Given the description of an element on the screen output the (x, y) to click on. 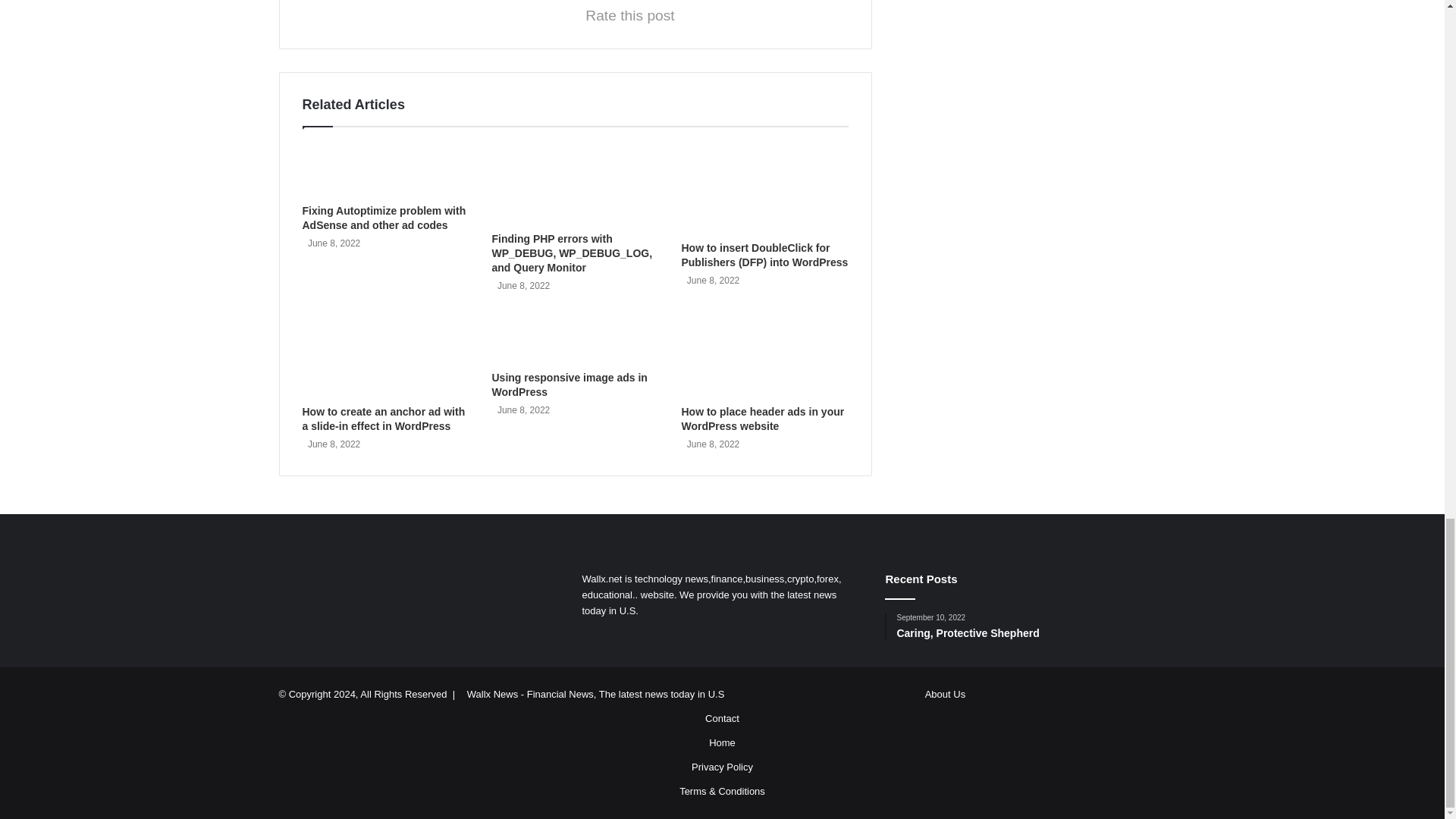
Using responsive image ads in WordPress (569, 384)
How to place header ads in your WordPress website (762, 418)
Fixing Autoptimize problem with AdSense and other ad codes (383, 217)
